Given the description of an element on the screen output the (x, y) to click on. 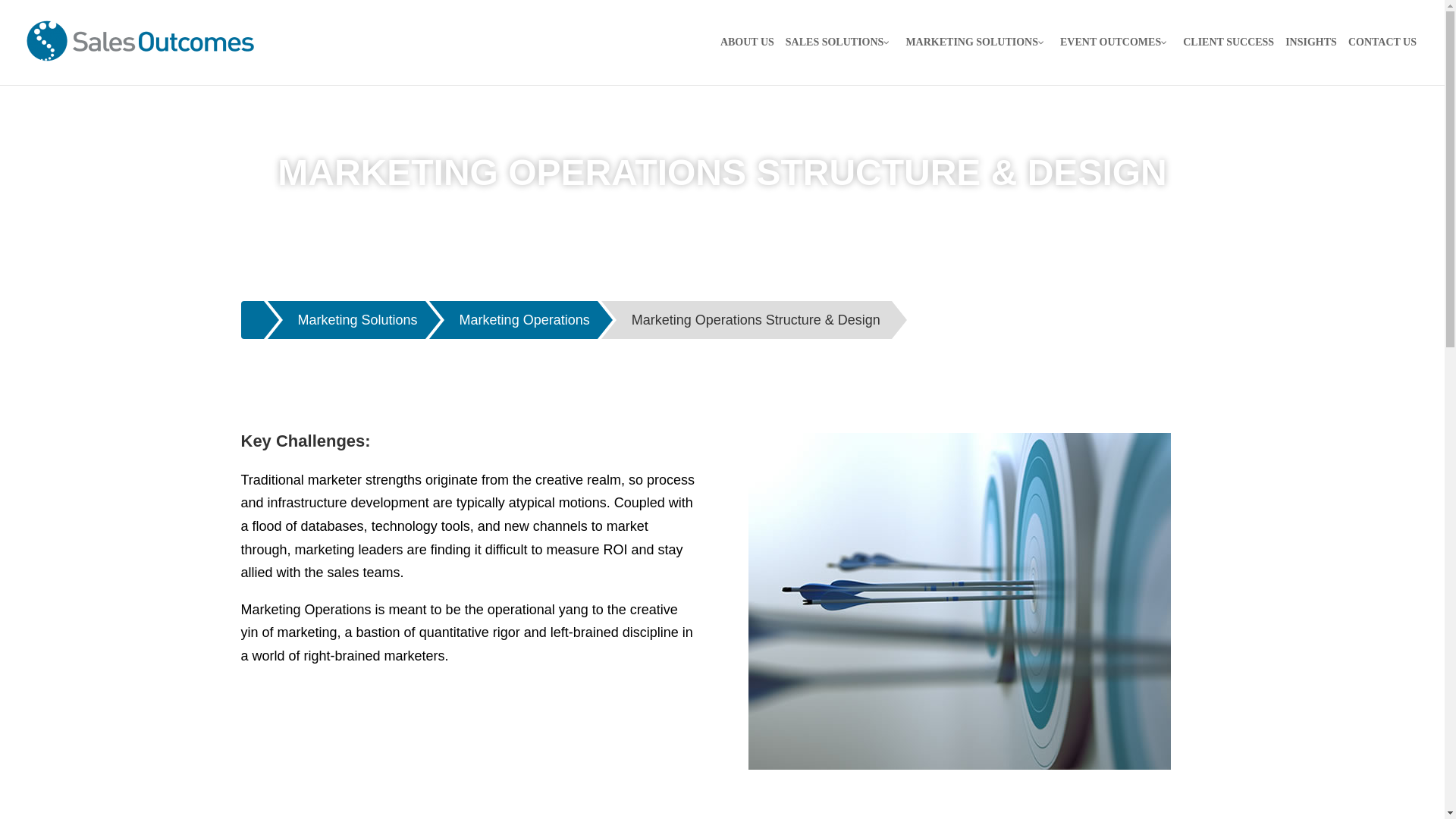
ABOUT US (746, 55)
SALES SOLUTIONS (839, 55)
MARKETING SOLUTIONS (976, 55)
